Given the description of an element on the screen output the (x, y) to click on. 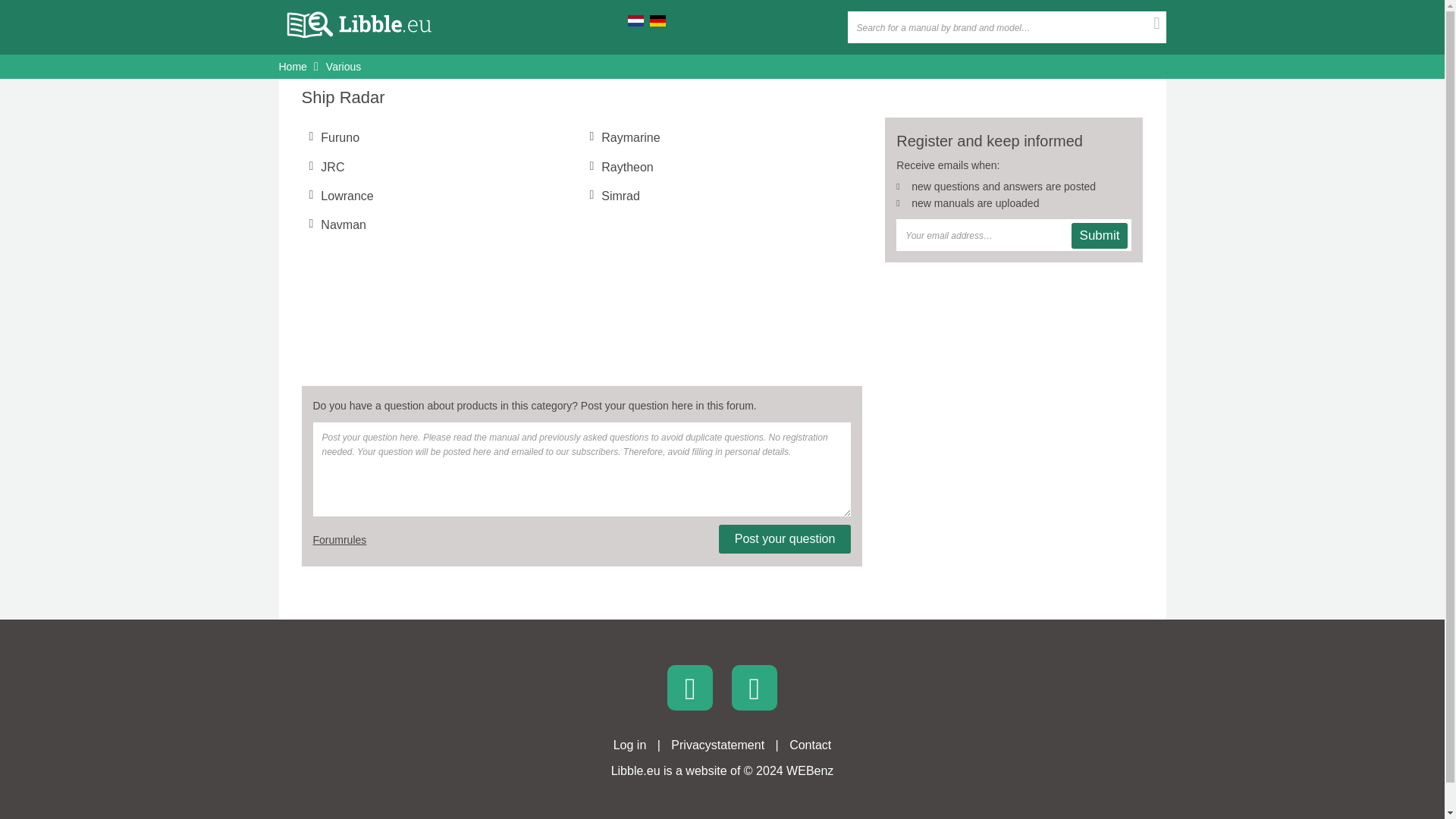
Furuno (339, 137)
Navman (343, 224)
Raymarine (630, 137)
Read our privacystatement (717, 745)
Go to the german page (657, 19)
Various (343, 66)
JRC (331, 166)
Simrad (620, 195)
Various (343, 66)
Raytheon (627, 166)
Post your question (785, 538)
Post your question (785, 538)
Submit (1099, 235)
Log in (629, 745)
Privacystatement (717, 745)
